Given the description of an element on the screen output the (x, y) to click on. 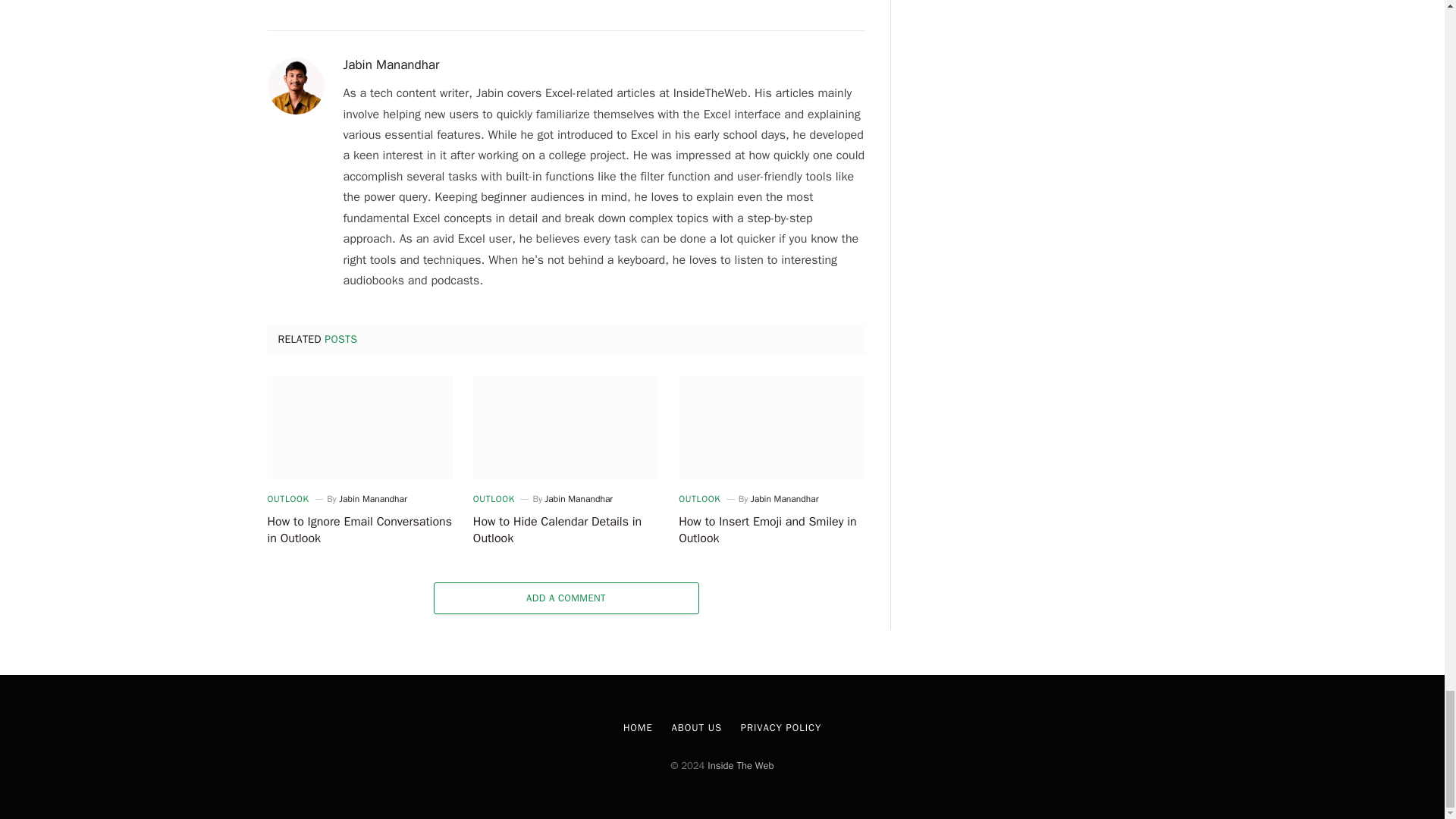
Posts by Jabin Manandhar (373, 499)
How to Ignore Email Conversations in Outlook (359, 427)
How to Hide Calendar Details in Outlook (566, 530)
How to Hide Calendar Details in Outlook (566, 427)
How to Insert Emoji and Smiley in Outlook (771, 427)
Posts by Jabin Manandhar (390, 64)
OUTLOOK (494, 499)
Jabin Manandhar (578, 499)
OUTLOOK (699, 499)
OUTLOOK (287, 499)
Posts by Jabin Manandhar (784, 499)
Jabin Manandhar (390, 64)
How to Ignore Email Conversations in Outlook (359, 530)
Posts by Jabin Manandhar (578, 499)
Jabin Manandhar (373, 499)
